Given the description of an element on the screen output the (x, y) to click on. 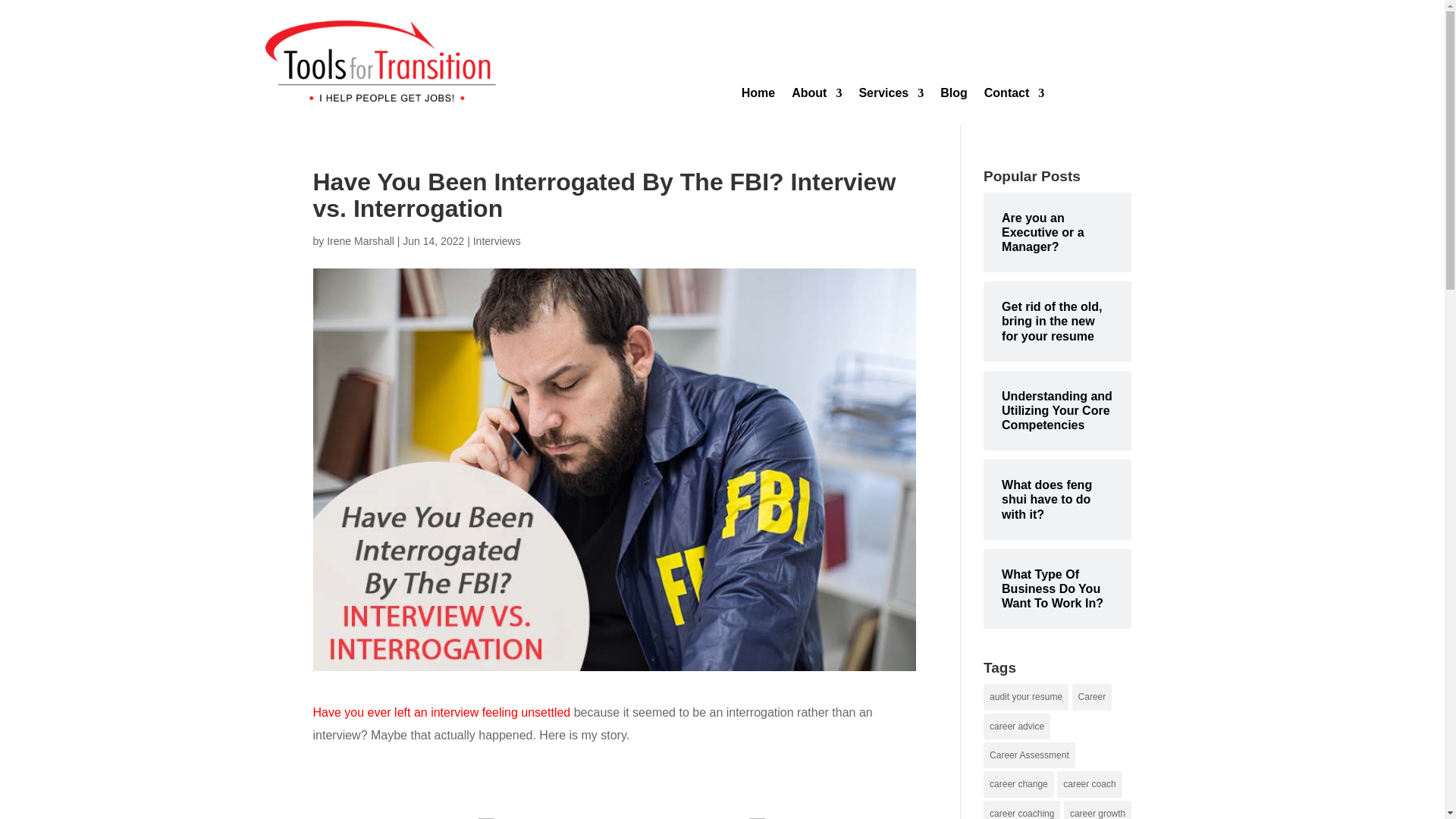
Tools for Transition Logo 2023 (380, 60)
About (816, 95)
Are you an Executive or a Manager? (1057, 232)
Home (757, 95)
Services (891, 95)
Irene Marshall (360, 241)
Contact (1014, 95)
Have you ever left an interview feeling unsettled (441, 712)
Posts by Irene Marshall (360, 241)
Blog (954, 95)
Interviews (497, 241)
